Given the description of an element on the screen output the (x, y) to click on. 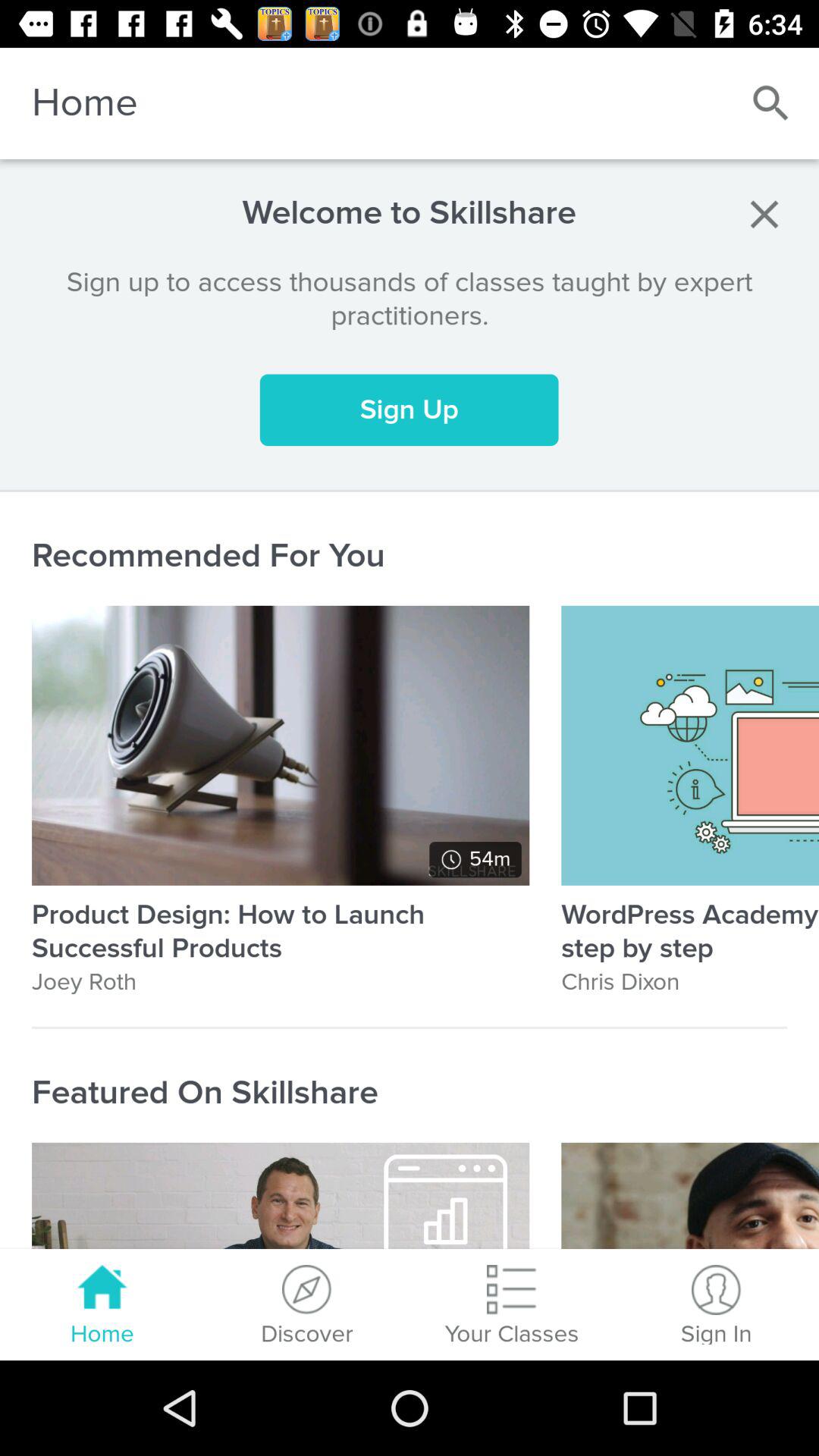
exit notification (764, 214)
